Given the description of an element on the screen output the (x, y) to click on. 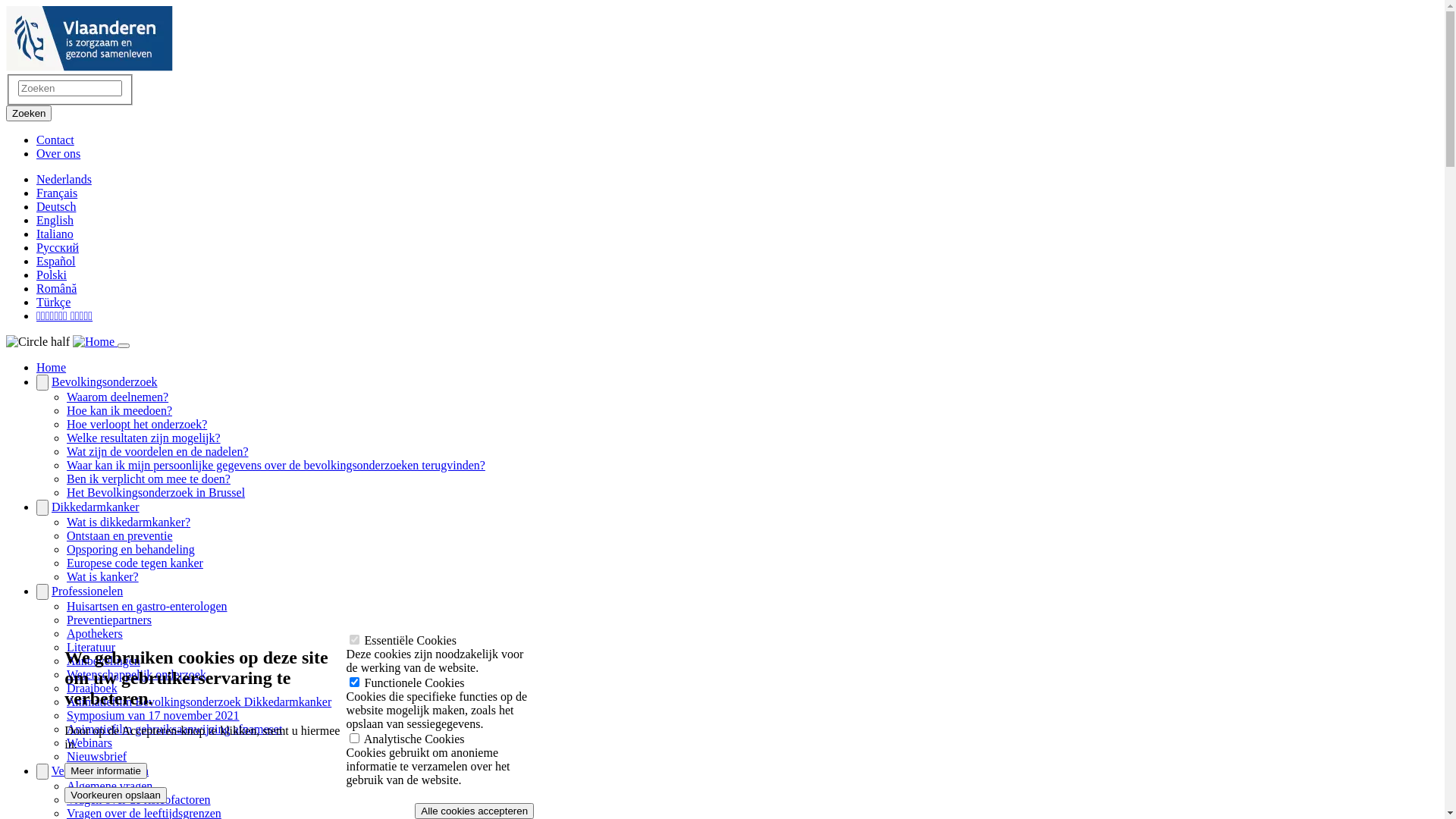
Europese code tegen kanker Element type: text (134, 562)
Waarom deelnemen? Element type: text (117, 396)
Algemene vragen Element type: text (109, 785)
Hoe verloopt het onderzoek? Element type: text (136, 423)
Draaiboek Element type: text (91, 687)
English Element type: text (54, 219)
Symposium van 17 november 2021 Element type: text (152, 715)
Home Element type: hover (94, 341)
Webinars Element type: text (89, 742)
Geef de woorden op waarnaar u wilt zoeken. Element type: hover (70, 88)
Wetenschappelijk onderzoek Element type: text (136, 674)
Animatiefilm gebruiksaanwijzing afnameset Element type: text (174, 728)
Wat zijn de voordelen en de nadelen? Element type: text (157, 451)
Voorkeuren opslaan Element type: text (115, 795)
Vragen over de risicofactoren Element type: text (138, 799)
Hoe kan ik meedoen? Element type: text (119, 410)
Preventiepartners Element type: text (108, 619)
Welke resultaten zijn mogelijk? Element type: text (143, 437)
Deutsch Element type: text (55, 206)
Professionelen Element type: text (86, 590)
Literatuur Element type: text (90, 646)
Aanbevelingen Element type: text (103, 660)
Ben ik verplicht om mee te doen? Element type: text (148, 478)
Overslaan en naar de inhoud gaan Element type: text (6, 6)
Het Bevolkingsonderzoek in Brussel Element type: text (155, 492)
Withdraw consent Element type: text (539, 805)
Huisartsen en gastro-enterologen Element type: text (146, 605)
Zoeken Element type: text (28, 113)
Italiano Element type: text (54, 233)
Meer informatie Element type: text (105, 771)
Nieuwsbrief Element type: text (96, 755)
Contact Element type: text (55, 139)
Nederlands Element type: text (63, 178)
Home Element type: text (50, 366)
Dikkedarmkanker Element type: text (95, 506)
Ontstaan en preventie Element type: text (119, 535)
Opsporing en behandeling Element type: text (130, 548)
Apothekers Element type: text (94, 633)
Polski Element type: text (51, 274)
Wat is kanker? Element type: text (102, 576)
Wat is dikkedarmkanker? Element type: text (128, 521)
Animatiefilm Bevolkingsonderzoek Dikkedarmkanker Element type: text (198, 701)
Veelgestelde vragen Element type: text (99, 770)
Over ons Element type: text (58, 153)
Bevolkingsonderzoek Element type: text (104, 381)
